Given the description of an element on the screen output the (x, y) to click on. 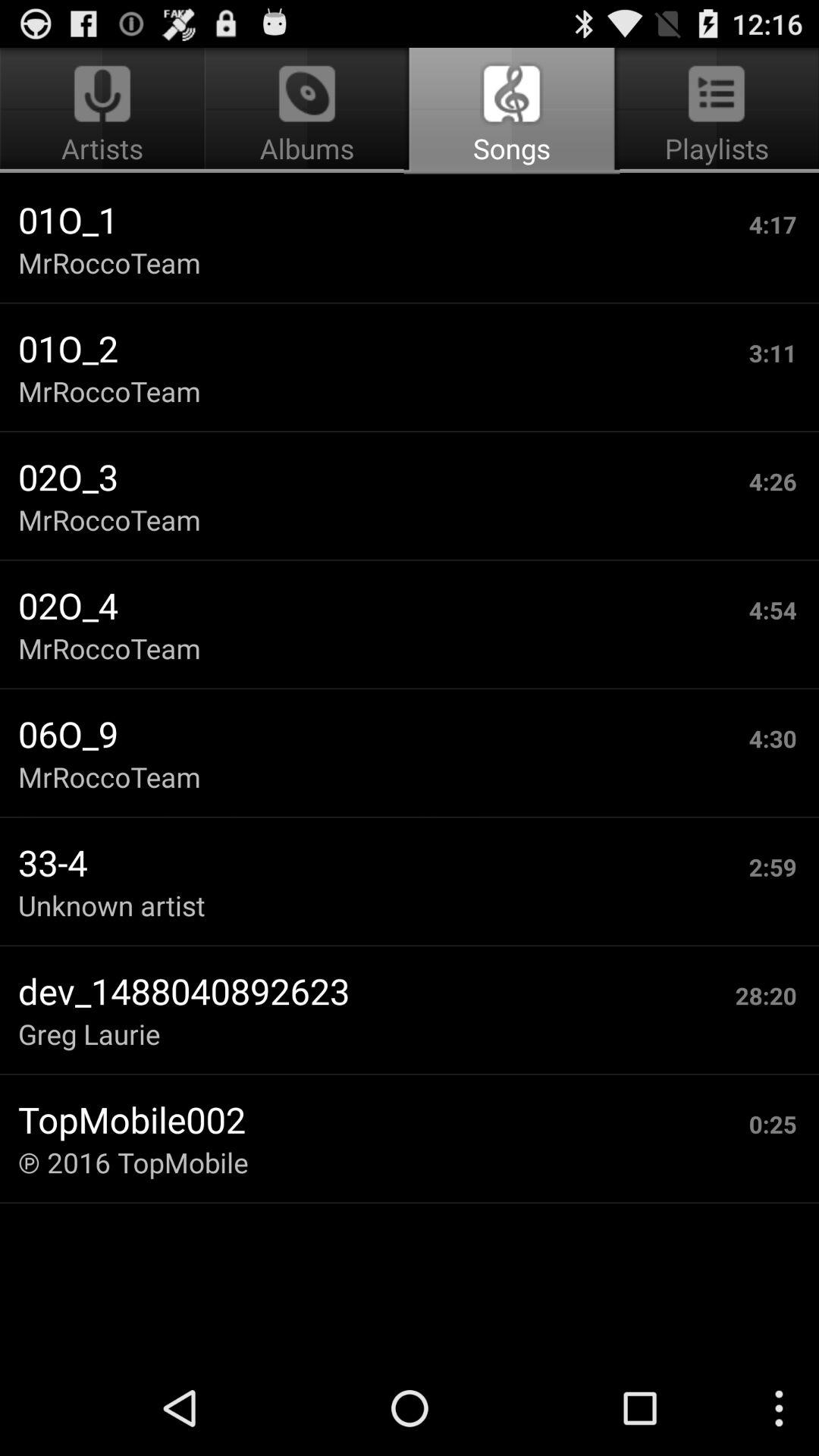
choose icon to the left of playlists icon (307, 111)
